Given the description of an element on the screen output the (x, y) to click on. 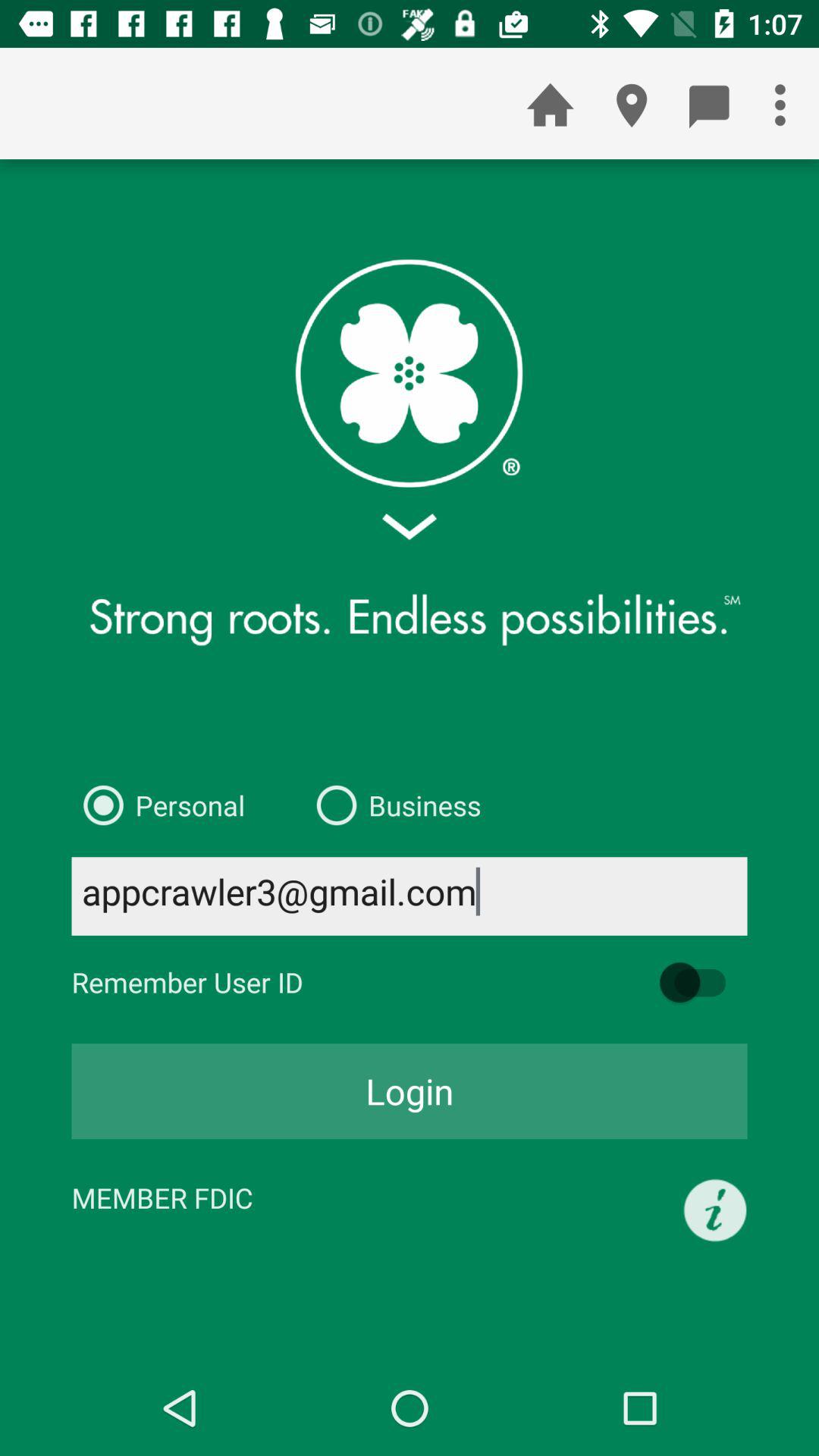
select the login item (409, 1091)
